Given the description of an element on the screen output the (x, y) to click on. 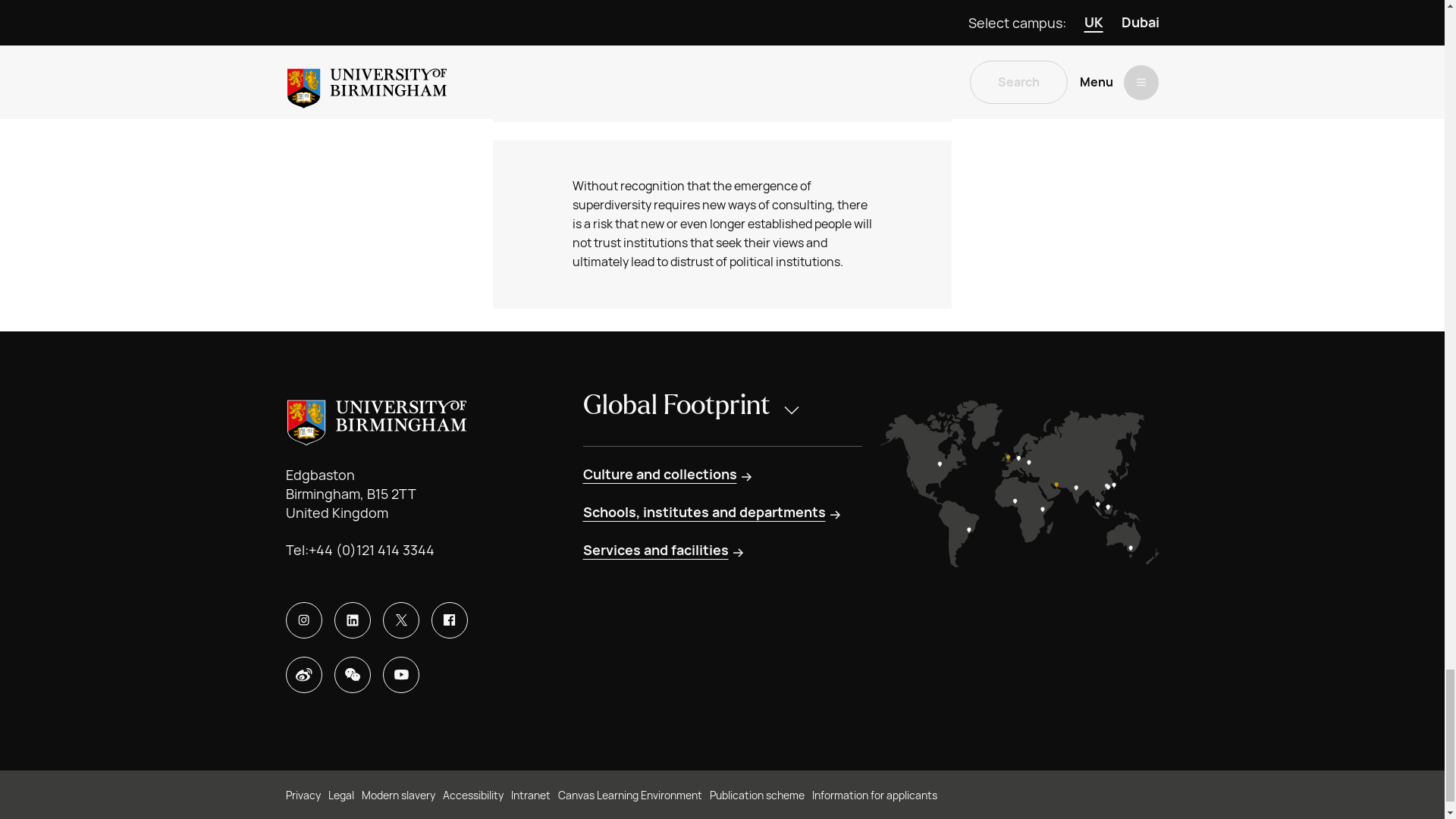
Accessibility (472, 796)
Privacy (302, 796)
Intranet (530, 796)
Schools, institutes and departments (712, 512)
Publication scheme (757, 796)
Services and facilities (663, 550)
Culture and collections (668, 474)
Legal (340, 796)
Information for applicants (873, 796)
Canvas Learning Environment (629, 796)
Modern slavery (397, 796)
